Given the description of an element on the screen output the (x, y) to click on. 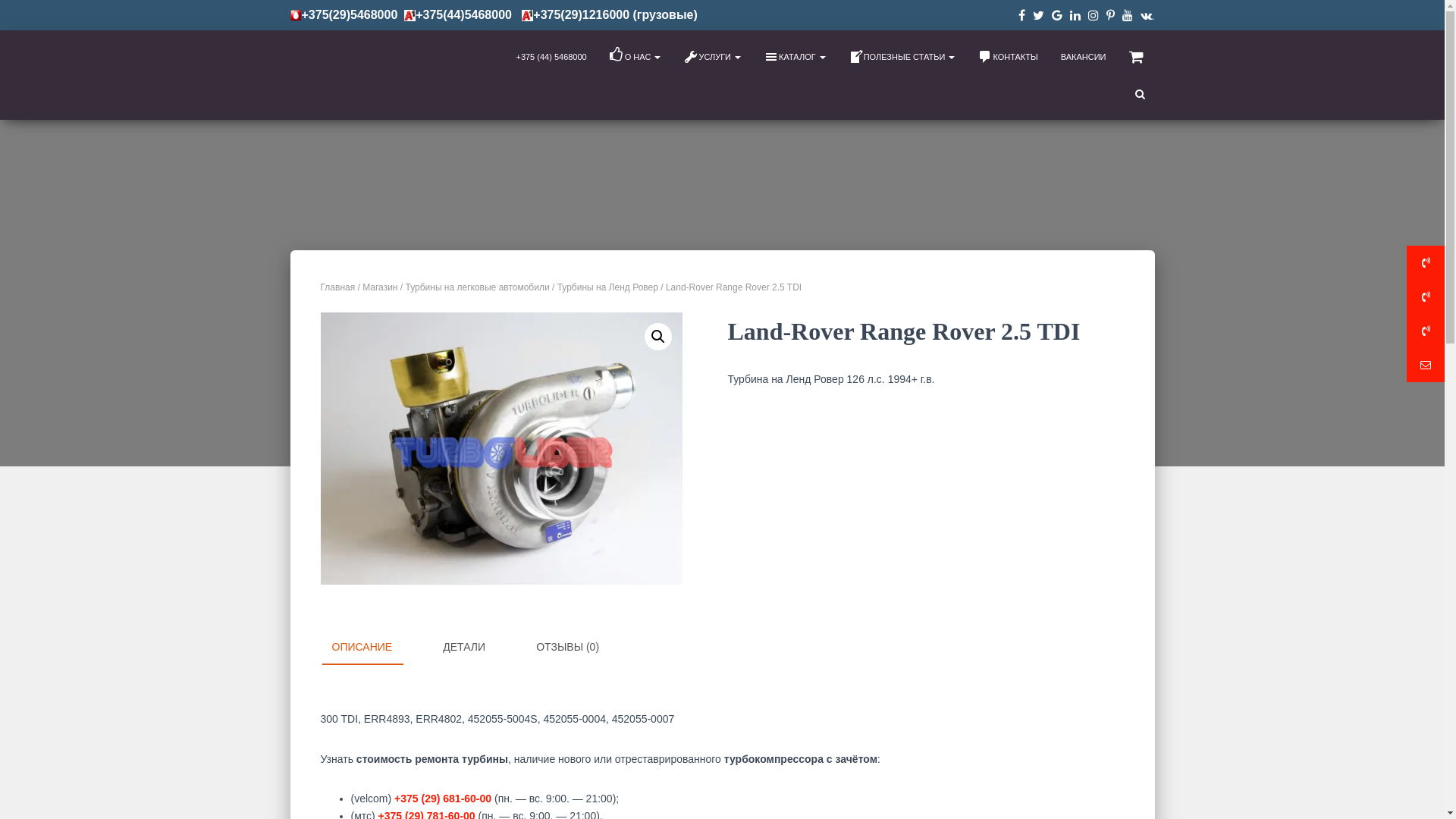
+375(29)5468000 Element type: text (349, 14)
Google Element type: text (1056, 17)
+375 (29) 681-60-00 Element type: text (442, 798)
+375 (44) 5468000 Element type: text (550, 56)
Linkedin Element type: text (1075, 17)
+375(44)5468000    Element type: text (474, 14)
Land-Rover Range Rover 2 Element type: hover (500, 448)
Instagram Element type: text (1093, 17)
Twitter Element type: text (1038, 17)
Pinterest Element type: text (1110, 17)
View cart Element type: hover (1135, 56)
Youtube Element type: text (1127, 17)
Facebook Element type: text (1021, 17)
. Element type: text (1147, 15)
